Given the description of an element on the screen output the (x, y) to click on. 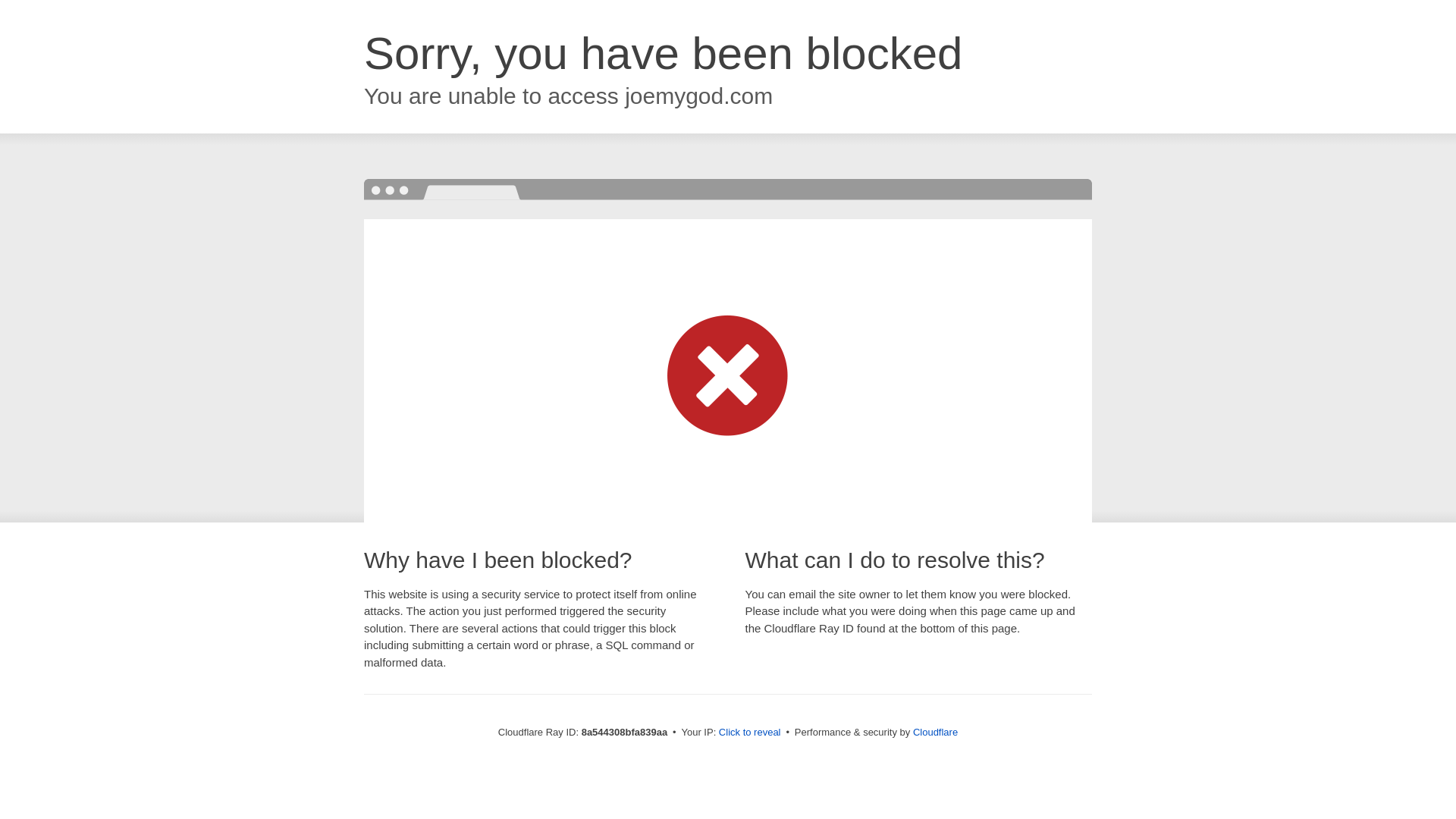
Click to reveal (749, 732)
Cloudflare (935, 731)
